Given the description of an element on the screen output the (x, y) to click on. 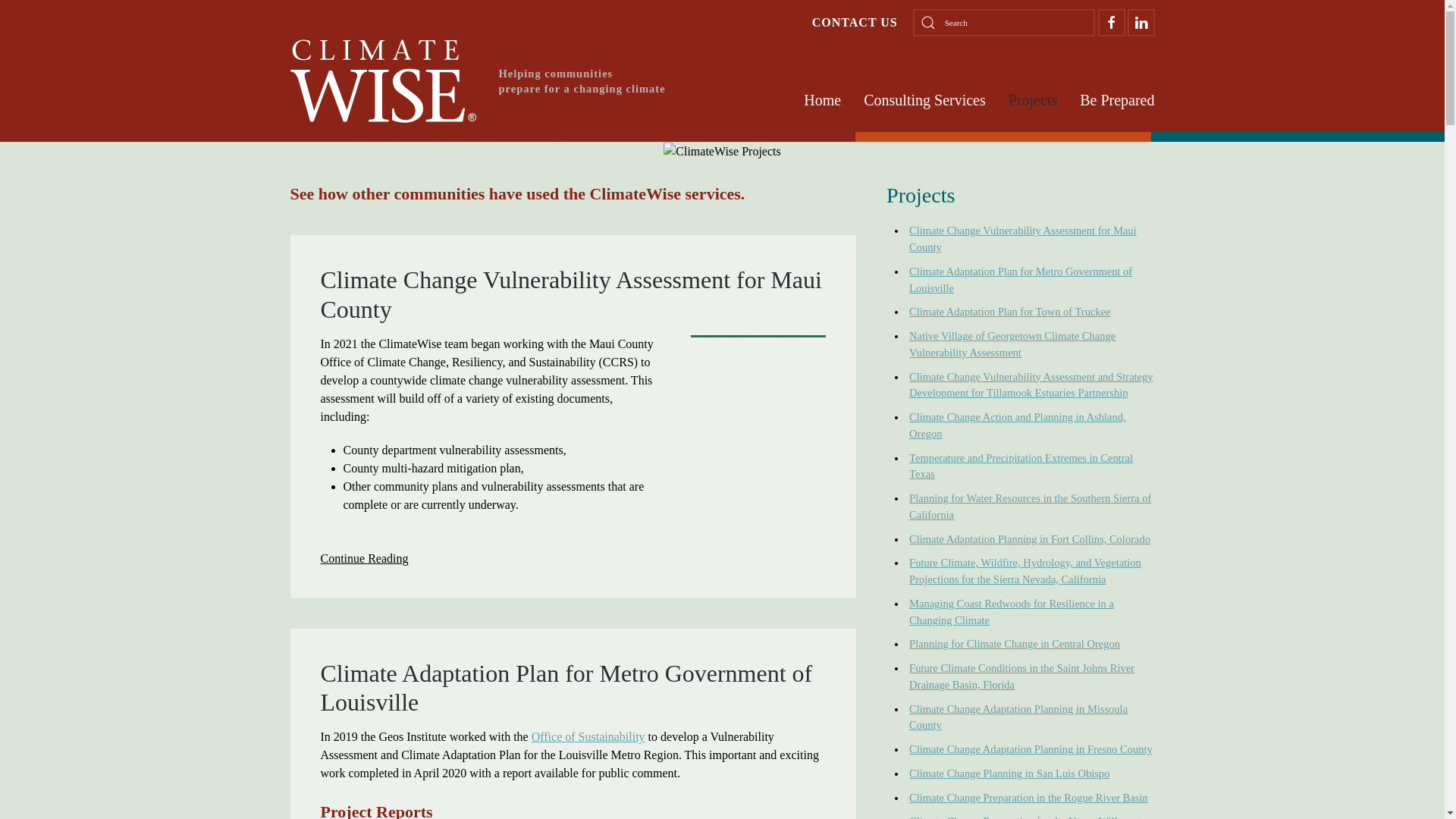
CONTACT US (855, 22)
Be Prepared (1117, 99)
Louisville Metro Government Office of Sustainability (588, 736)
Climate Change Vulnerability Assessment for Maui County (570, 294)
Continue Reading (363, 558)
Consulting Services (924, 99)
Climate Adaptation Plan for Metro Government of Louisville (566, 687)
